Given the description of an element on the screen output the (x, y) to click on. 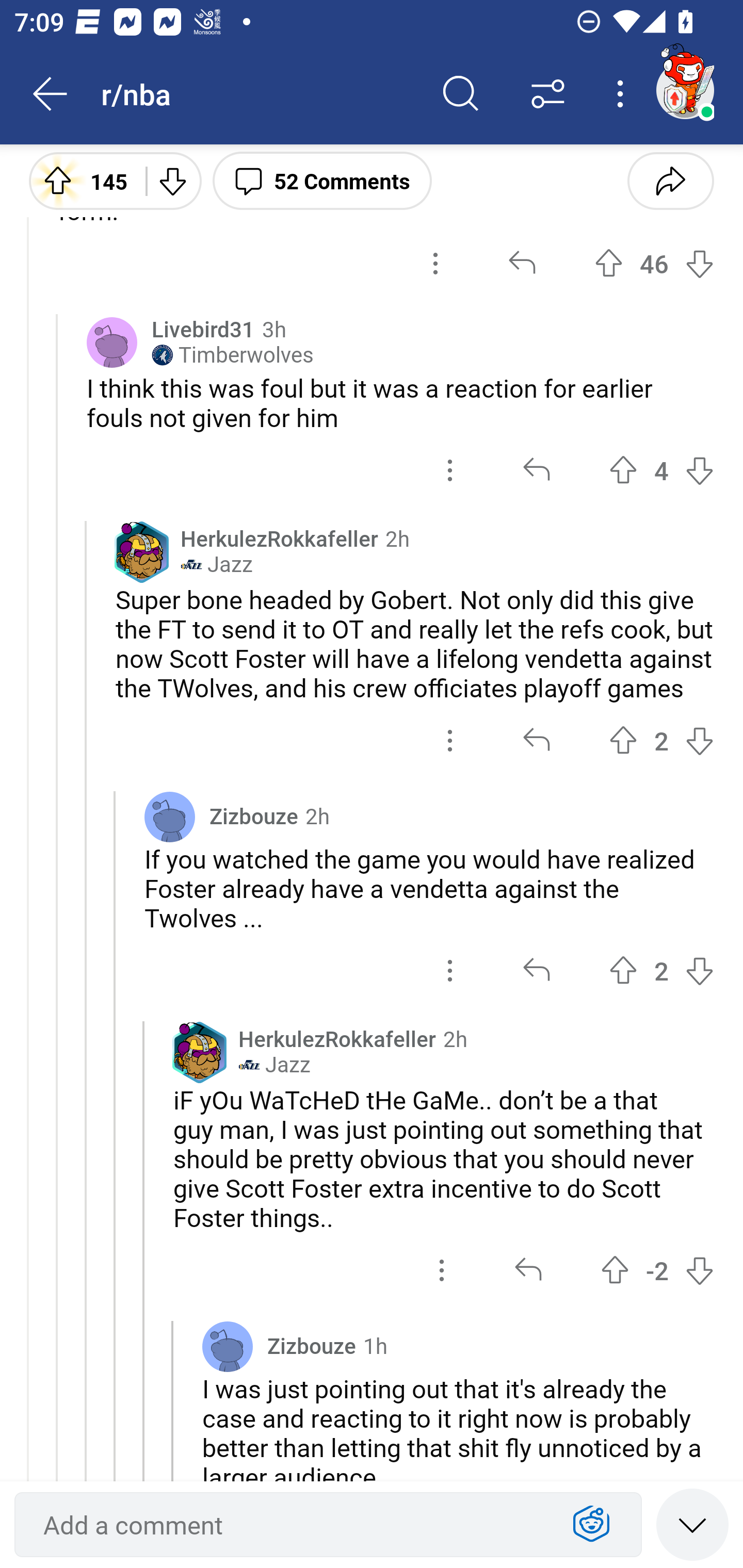
Back (50, 93)
TestAppium002 account (685, 90)
Search comments (460, 93)
Sort comments (547, 93)
More options (623, 93)
r/nba (259, 92)
Upvote 145 (79, 180)
Downvote (171, 180)
52 Comments (321, 180)
Share (670, 180)
options (435, 263)
Upvote 46 46 votes Downvote (654, 263)
Avatar (111, 342)
￼ Timberwolves (232, 354)
options (449, 470)
Upvote 4 4 votes Downvote (661, 470)
￼ Jazz (216, 564)
options (449, 740)
Upvote 2 2 votes Downvote (661, 740)
Avatar (169, 816)
options (449, 970)
Upvote 2 2 votes Downvote (661, 970)
￼ Jazz (274, 1064)
options (441, 1270)
Upvote -2 -2 votes Downvote (657, 1270)
Avatar (227, 1346)
Speed read (692, 1524)
Add a comment (291, 1524)
Show Expressions (590, 1524)
